Given the description of an element on the screen output the (x, y) to click on. 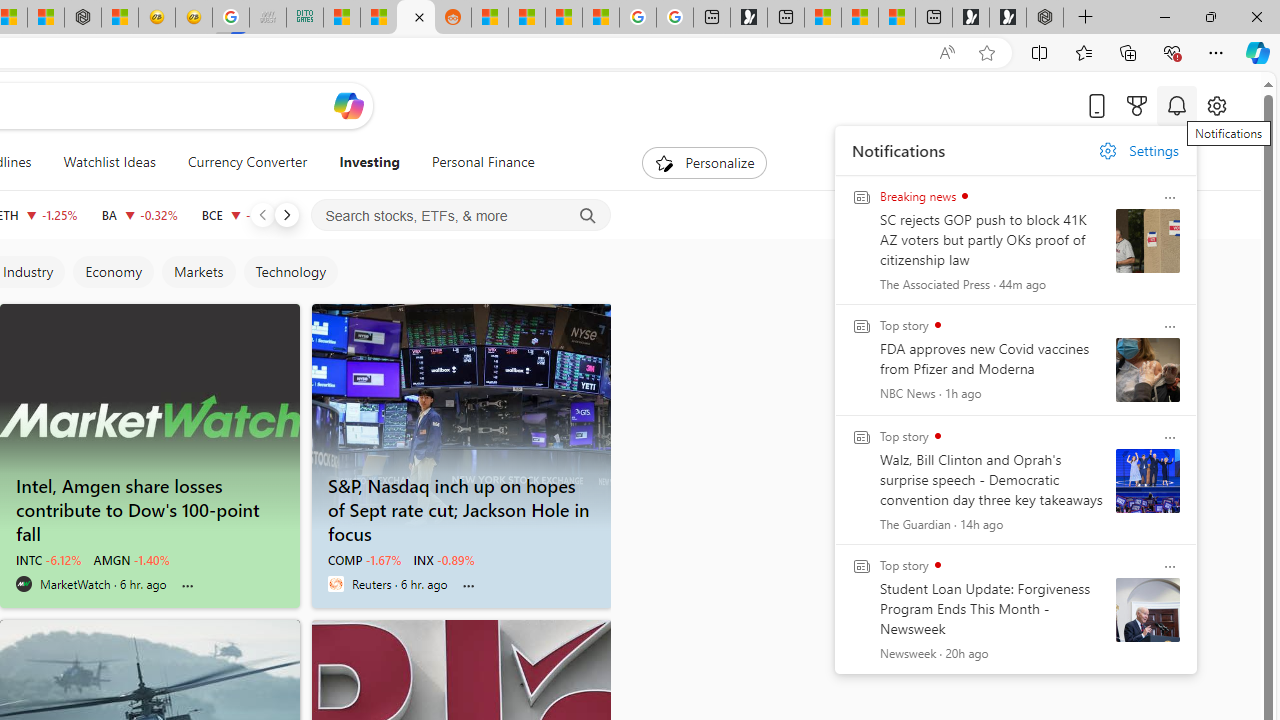
Investing (369, 162)
MSN (415, 17)
Notifications (1176, 105)
Microsoft Start Gaming (748, 17)
MSNBC - MSN (341, 17)
Next (286, 214)
Open settings (1216, 105)
